Given the description of an element on the screen output the (x, y) to click on. 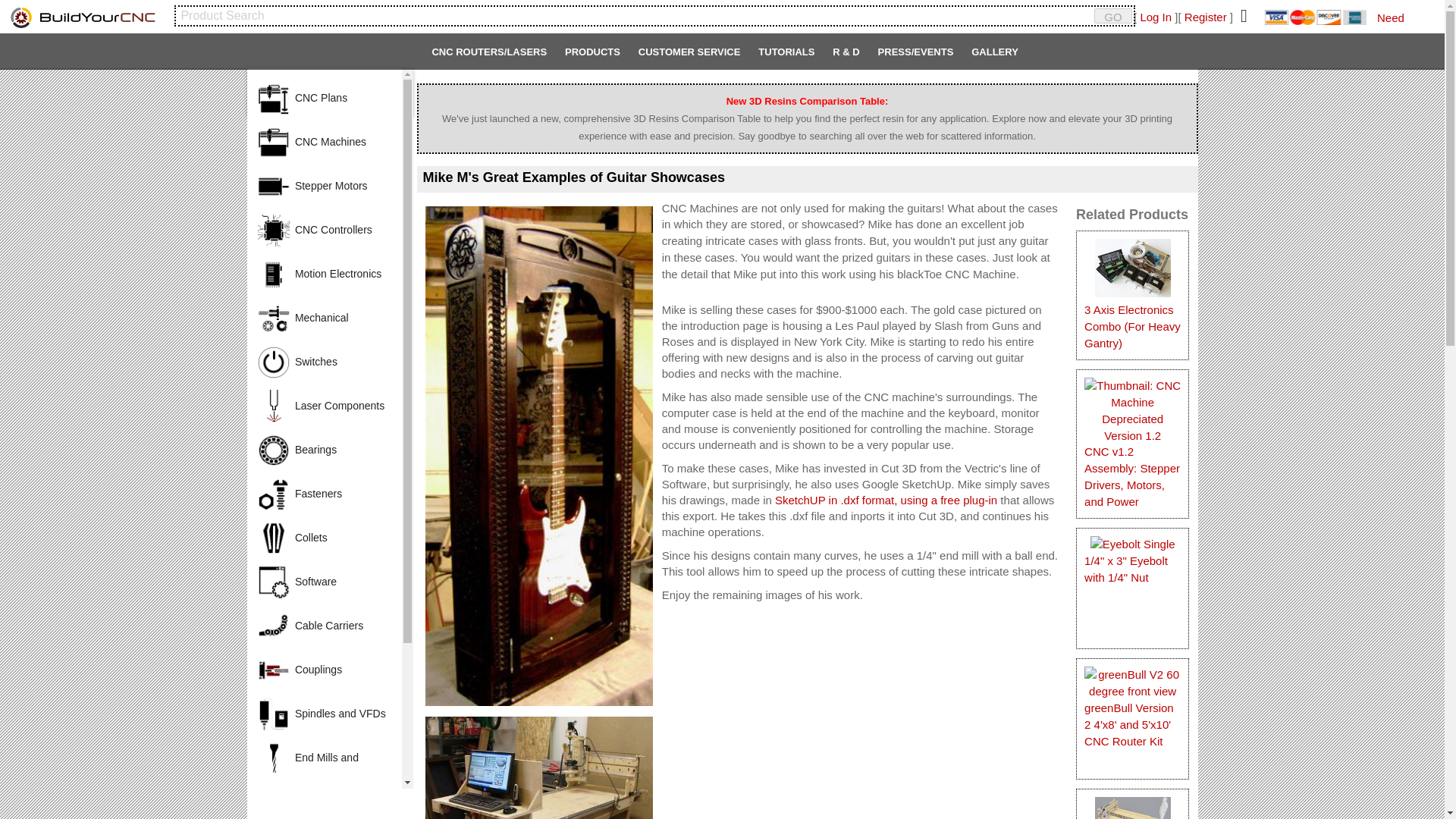
GO (1113, 15)
Collets (324, 537)
Register (1206, 16)
SketchUP in .dxf format, using a free plug-in (885, 499)
End Mills and Cutters (324, 757)
Motion Electronics (324, 273)
Cable Carriers (324, 625)
CNC Plans (324, 97)
TUTORIALS (786, 57)
Stepper Motors (324, 185)
Switches (324, 361)
CNC Machines (324, 141)
CUSTOMER SERVICE (689, 57)
GALLERY (994, 57)
CNC Controllers (324, 229)
